Given the description of an element on the screen output the (x, y) to click on. 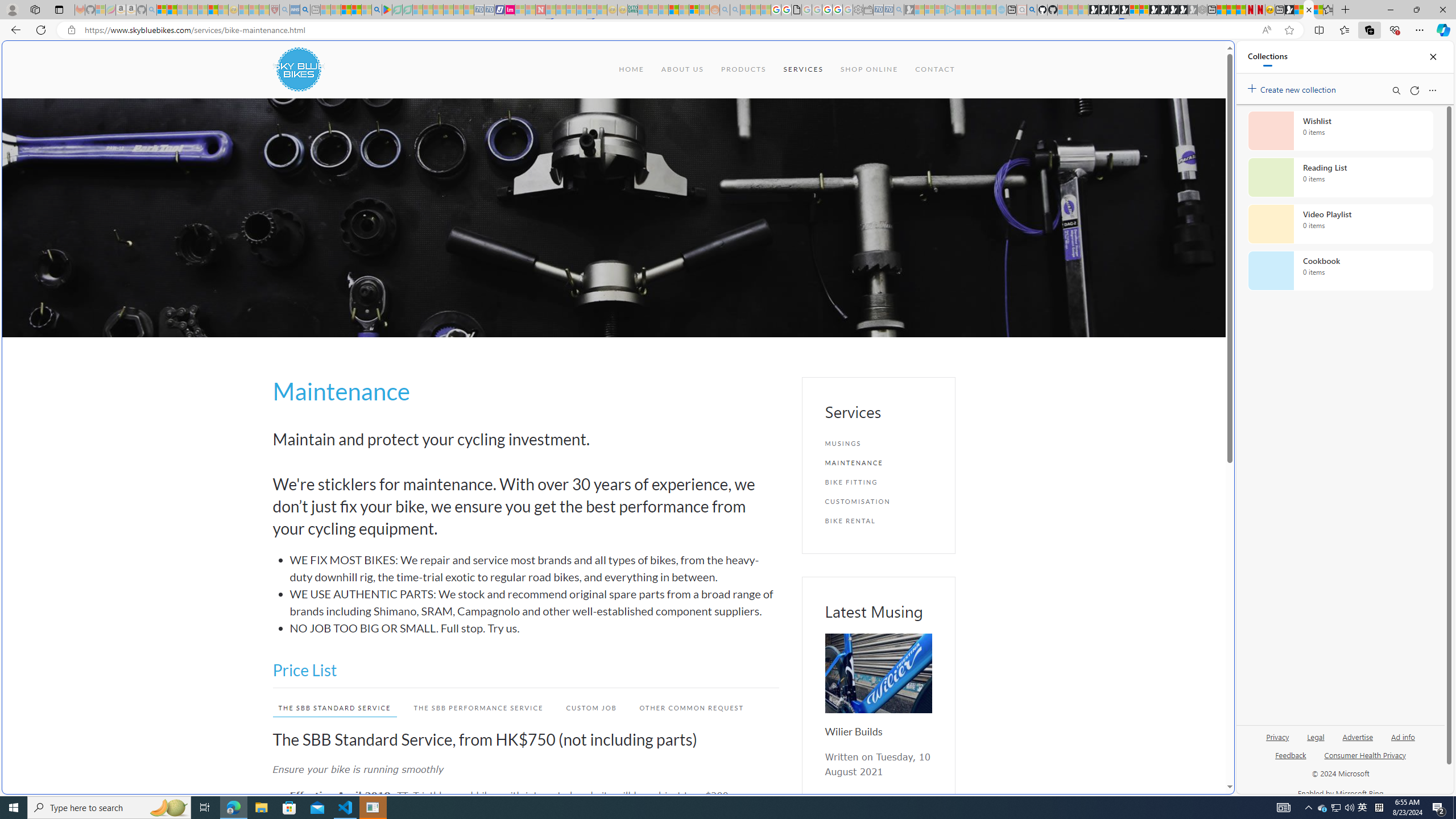
Read aloud this page (Ctrl+Shift+U) (1266, 29)
Ad info (1402, 736)
Microsoft account | Privacy (161, 9)
More options menu (1432, 90)
MUSINGS (878, 443)
BIKE FITTING (878, 481)
Feedback (1291, 759)
Advertise (1358, 741)
Favorites (922, 683)
Privacy (1278, 736)
